Given the description of an element on the screen output the (x, y) to click on. 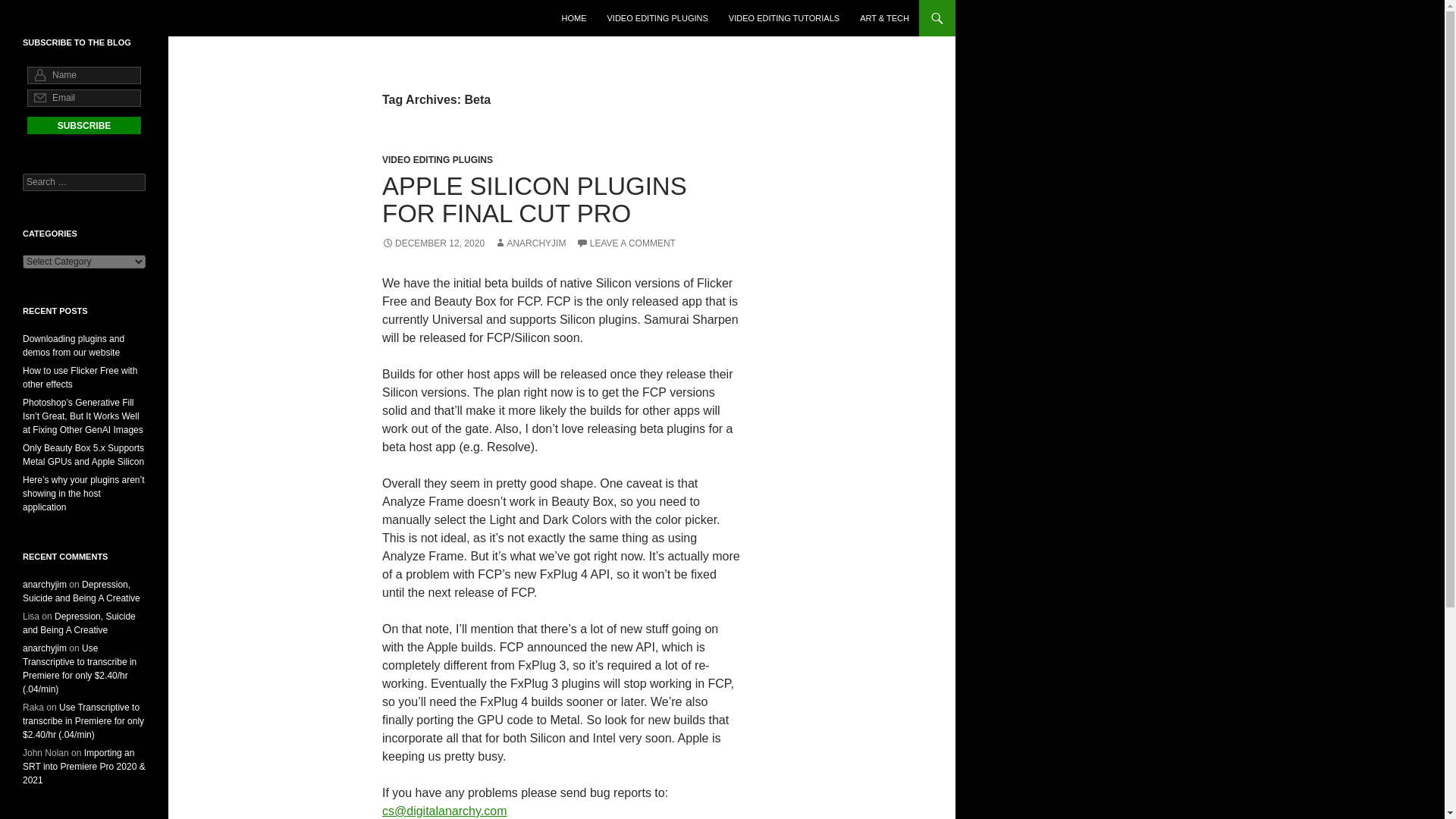
Only Beauty Box 5.x Supports Metal GPUs and Apple Silicon (83, 454)
Downloading plugins and demos from our website (73, 345)
DECEMBER 12, 2020 (432, 243)
APPLE SILICON PLUGINS FOR FINAL CUT PRO (534, 199)
Search (30, 8)
VIDEO EDITING PLUGINS (437, 159)
Subscribe (84, 125)
anarchyjim (44, 584)
How to use Flicker Free with other effects (79, 377)
HOME (573, 18)
VIDEO EDITING PLUGINS (657, 18)
VIDEO EDITING TUTORIALS (783, 18)
Anarchyjim (60, 18)
ANARCHYJIM (530, 243)
Subscribe (84, 125)
